Given the description of an element on the screen output the (x, y) to click on. 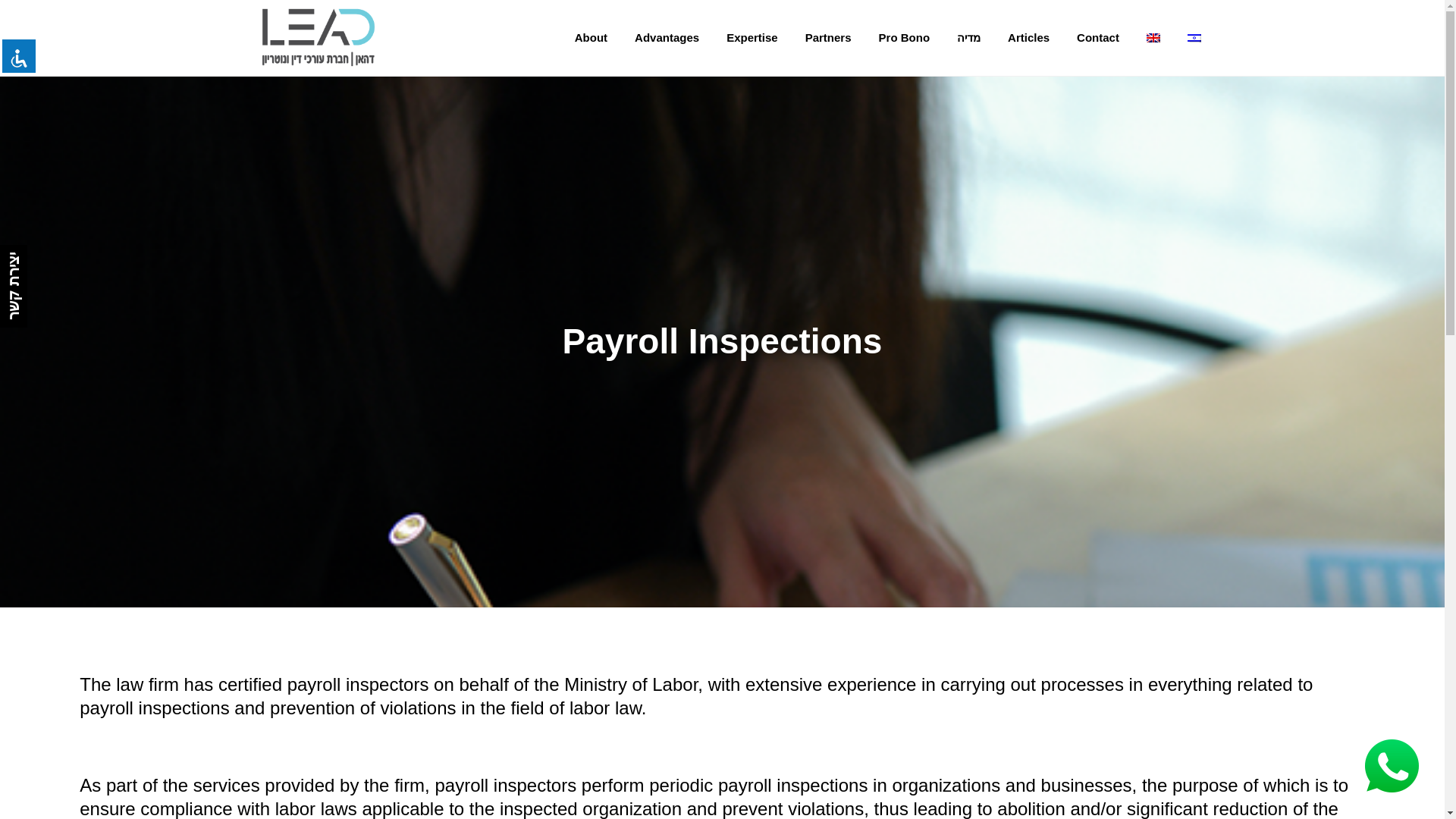
Pro Bono (903, 38)
Articles (1028, 38)
Partners (828, 38)
Contact (1097, 38)
Advantages (667, 38)
Expertise (752, 38)
